Given the description of an element on the screen output the (x, y) to click on. 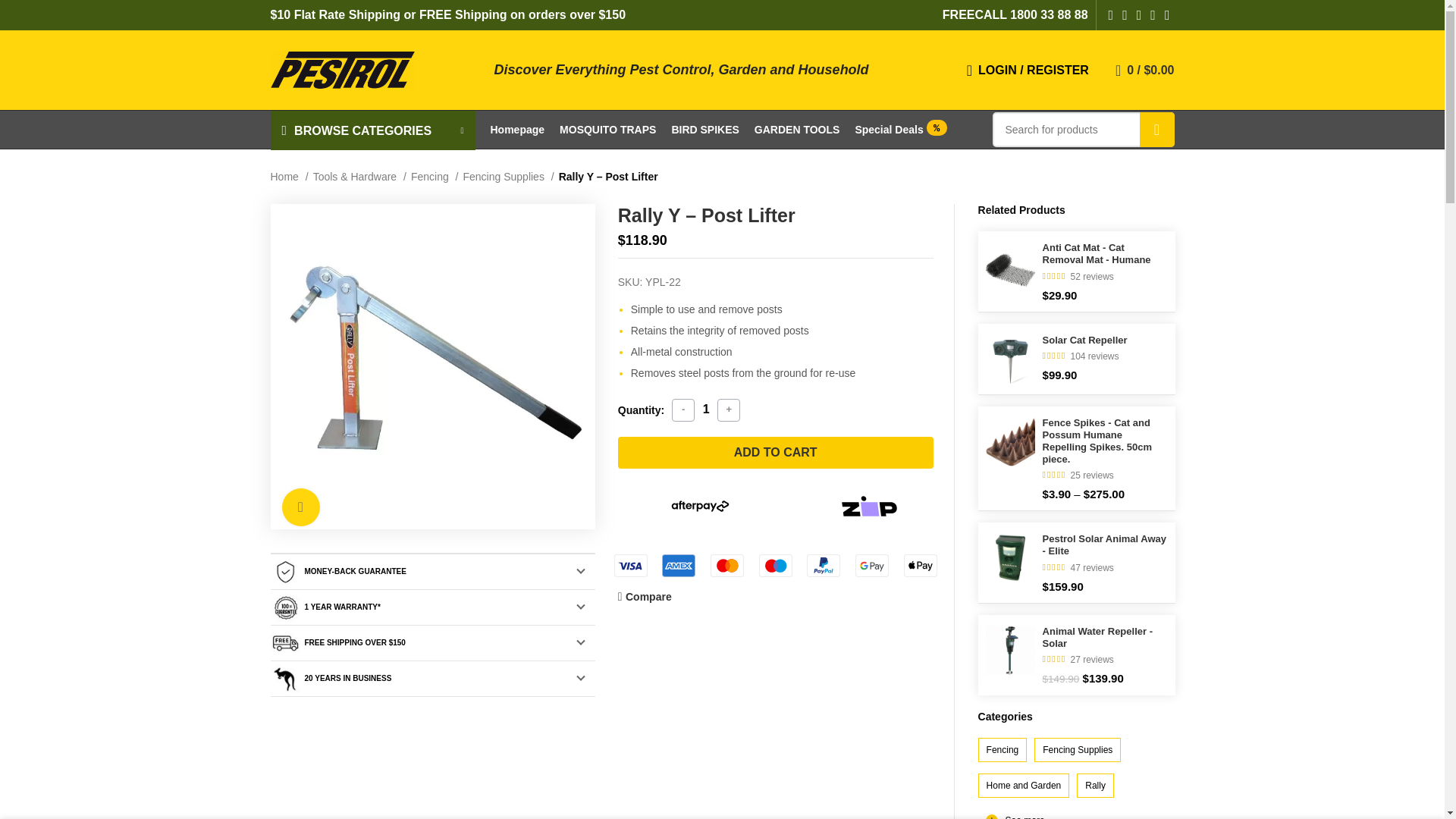
My account (1027, 69)
Shopping cart (1145, 69)
- (682, 409)
1 (705, 409)
